Given the description of an element on the screen output the (x, y) to click on. 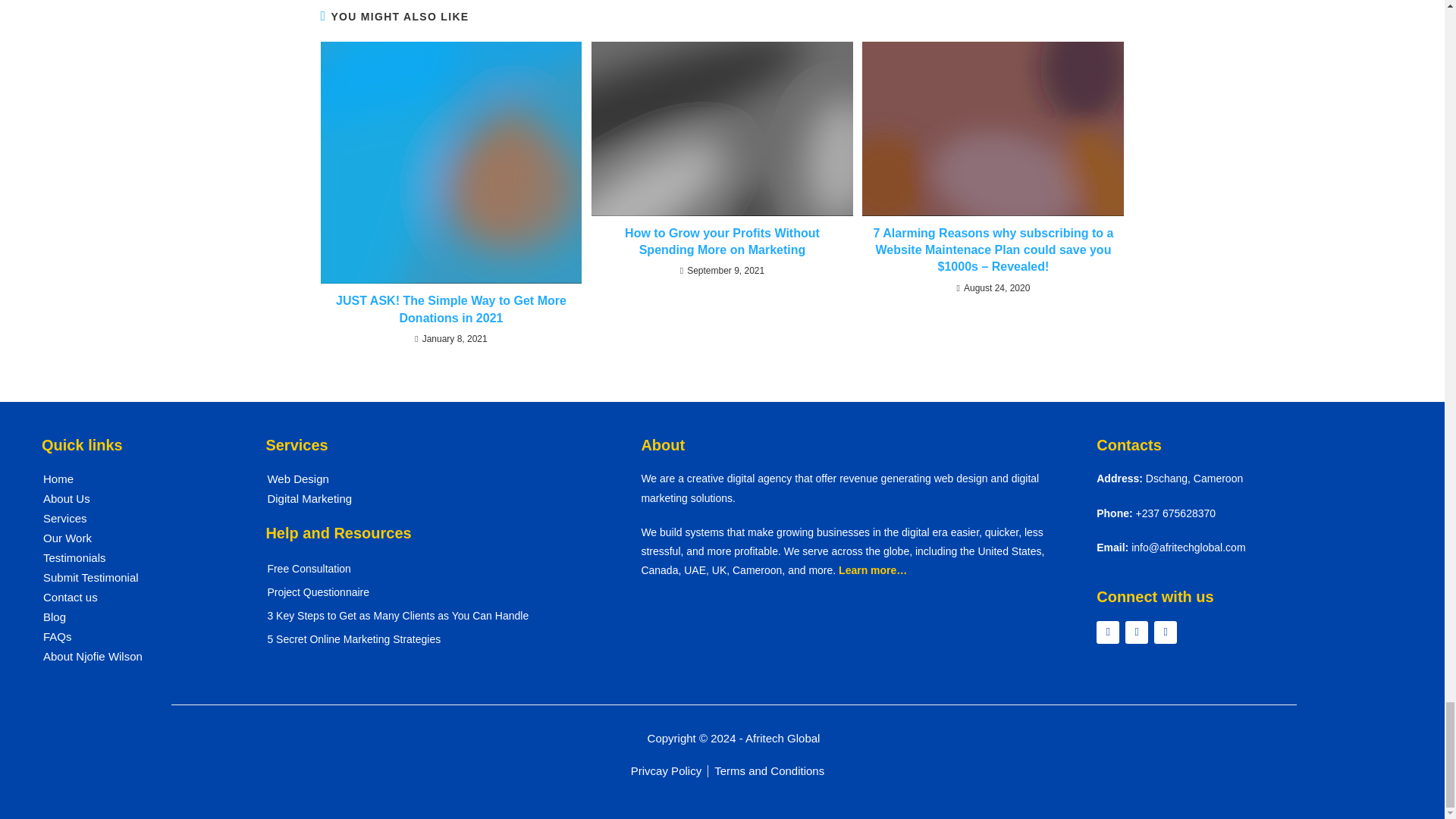
Contact us (135, 597)
About Us (135, 498)
FAQs (135, 637)
Home (135, 478)
Our Work (135, 537)
Testimonials (135, 557)
Submit Testimonial (135, 578)
JUST ASK! The Simple Way to Get More Donations in 2021 (450, 309)
Blog (135, 617)
Services (135, 518)
